Given the description of an element on the screen output the (x, y) to click on. 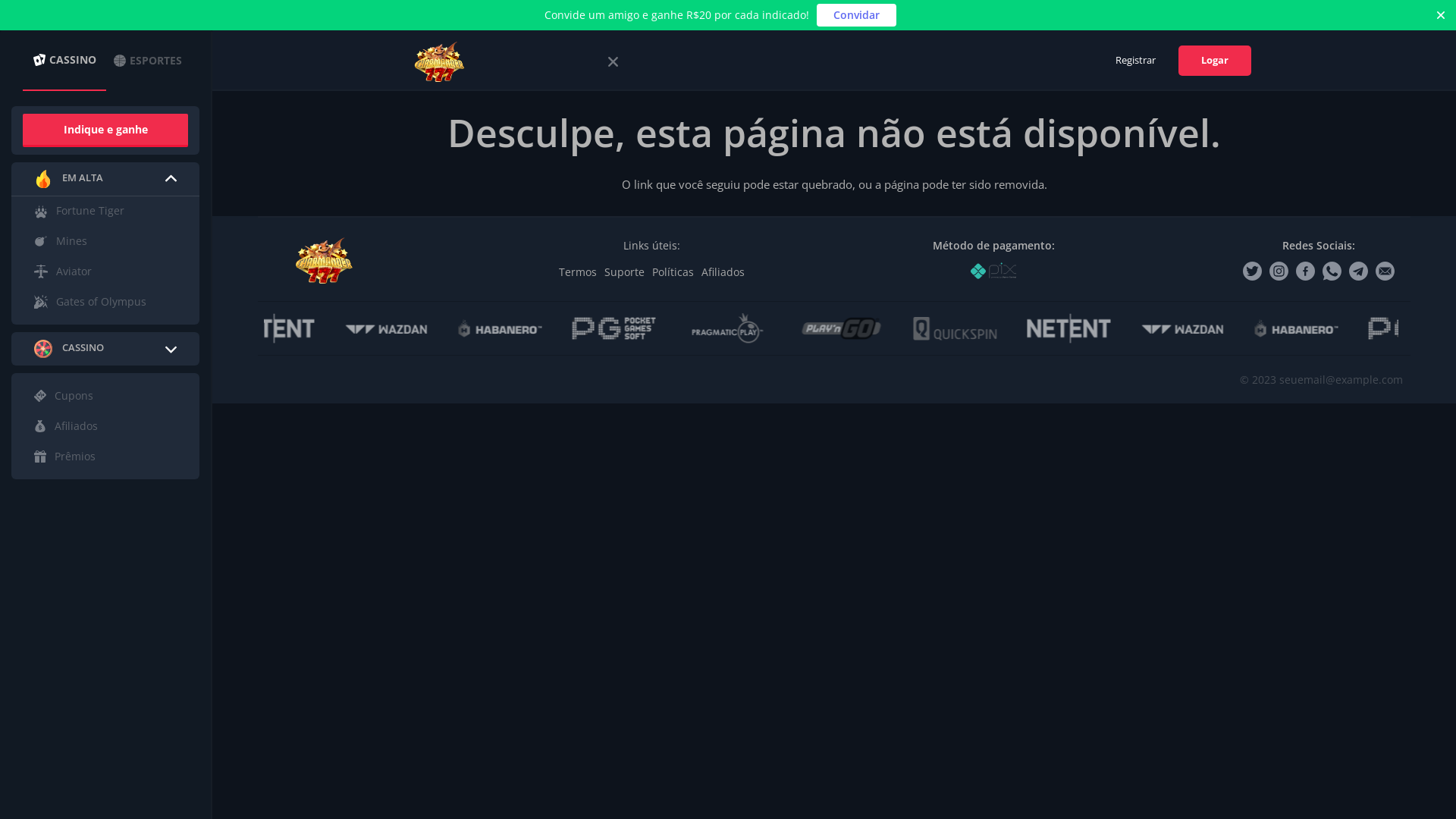
Registrar Element type: text (1135, 60)
Convidar Element type: text (856, 14)
Logar Element type: text (1214, 60)
Suporte Element type: text (624, 271)
Afiliados Element type: text (722, 271)
Termos Element type: text (577, 271)
